Given the description of an element on the screen output the (x, y) to click on. 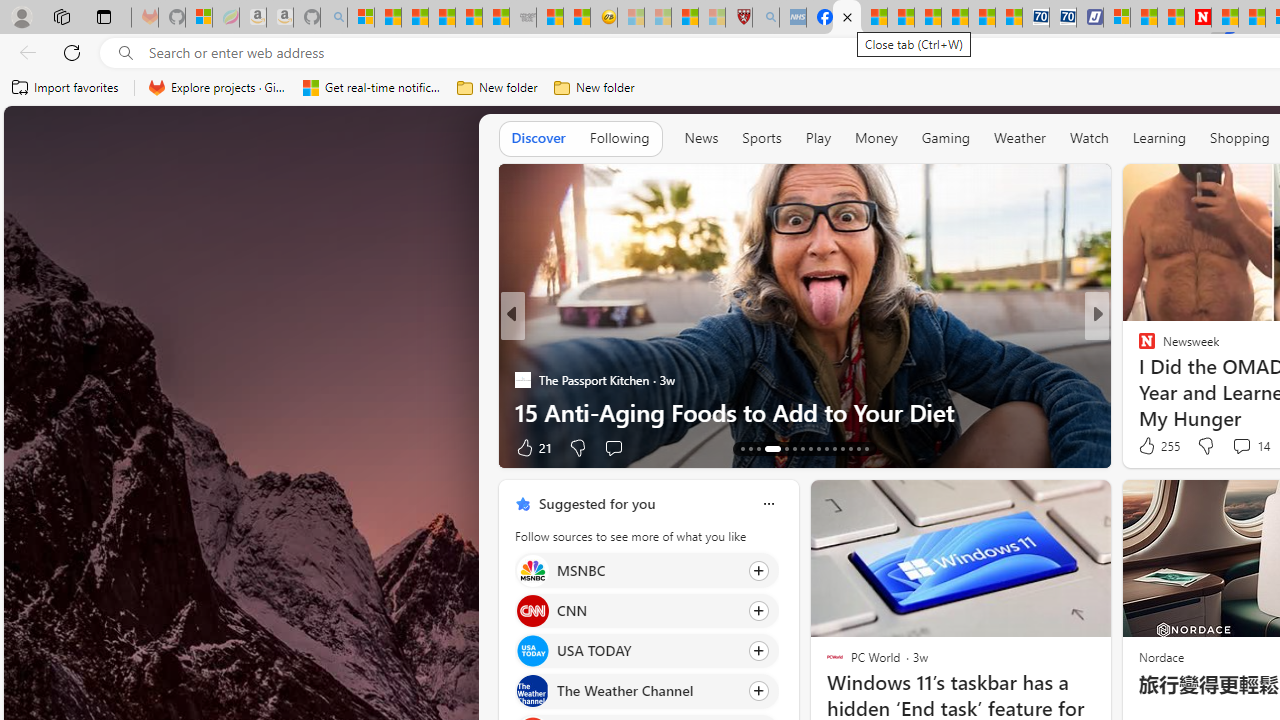
USA TODAY (532, 651)
Cheap Hotels - Save70.com (1062, 17)
AutomationID: tab-76 (833, 448)
268 Like (1151, 447)
BuzzFeed (1138, 347)
Body Network (1138, 347)
Click to follow source MSNBC (646, 570)
Shopping (1240, 137)
